Given the description of an element on the screen output the (x, y) to click on. 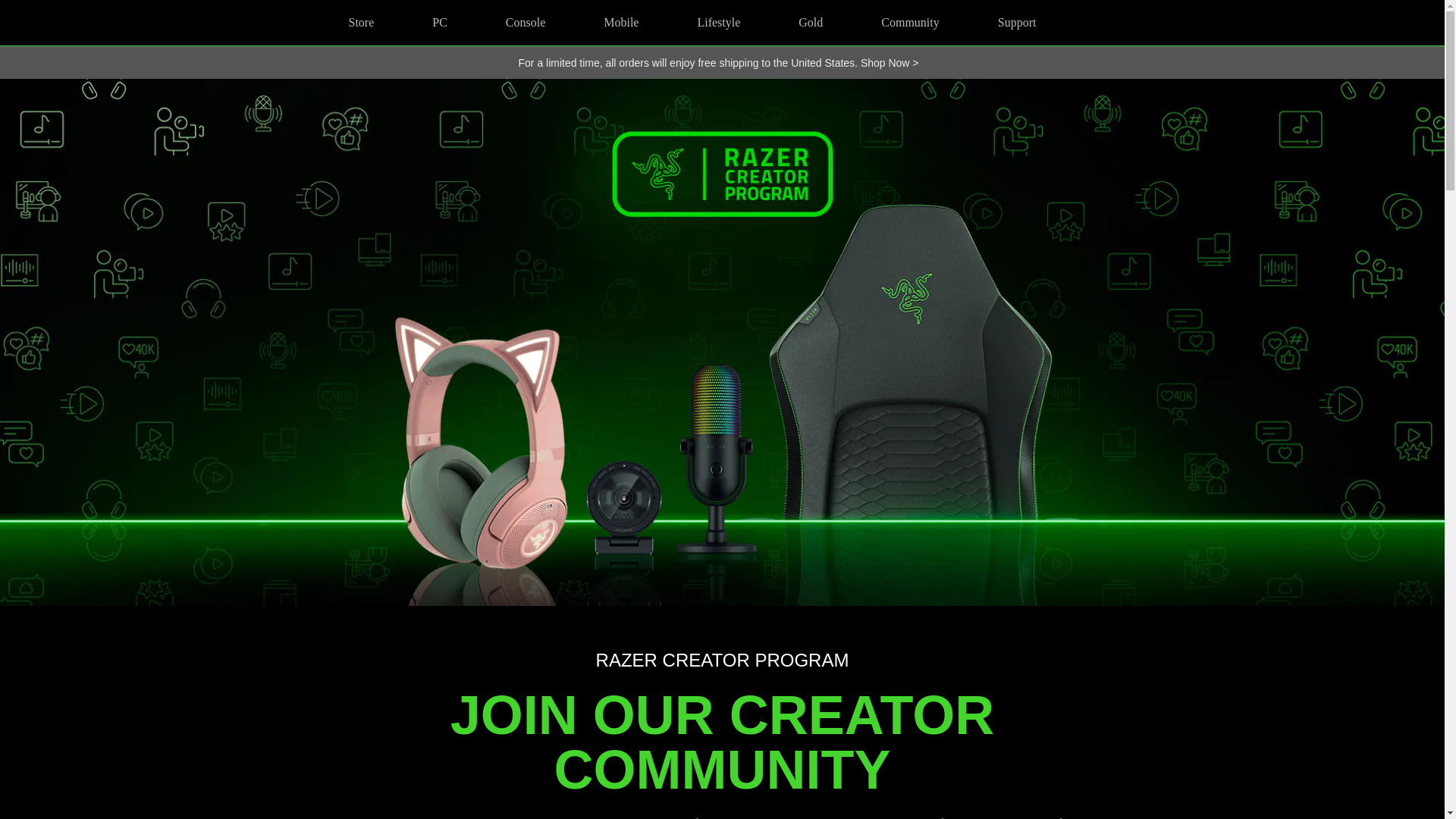
Store (360, 22)
